Given the description of an element on the screen output the (x, y) to click on. 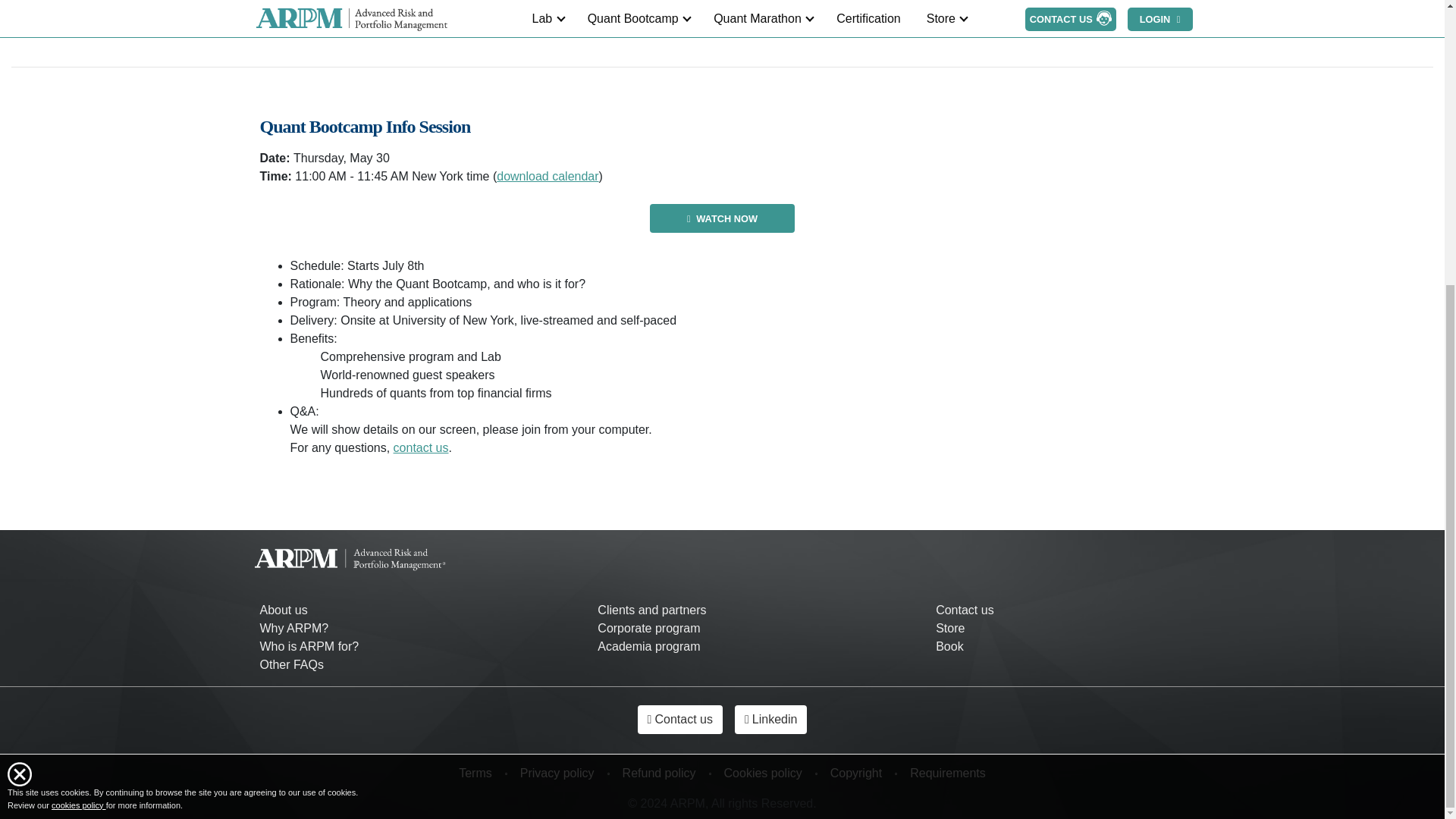
Go to ARPM Homepage (350, 558)
